Given the description of an element on the screen output the (x, y) to click on. 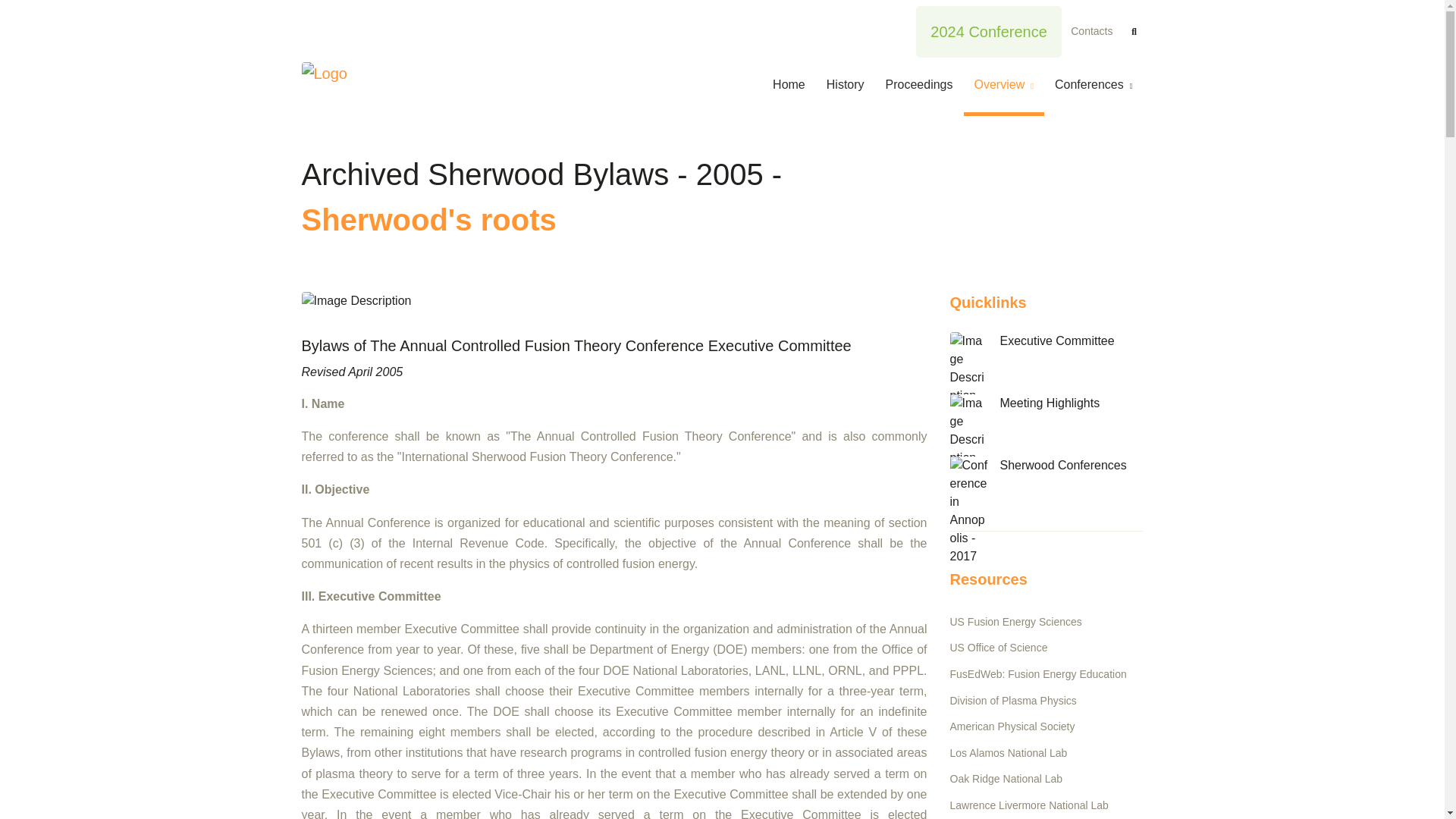
Contacts (1091, 30)
2024 Conference (988, 31)
Home (794, 86)
Conferences (1092, 86)
Proceedings (919, 86)
History (845, 86)
Overview (1002, 86)
